Given the description of an element on the screen output the (x, y) to click on. 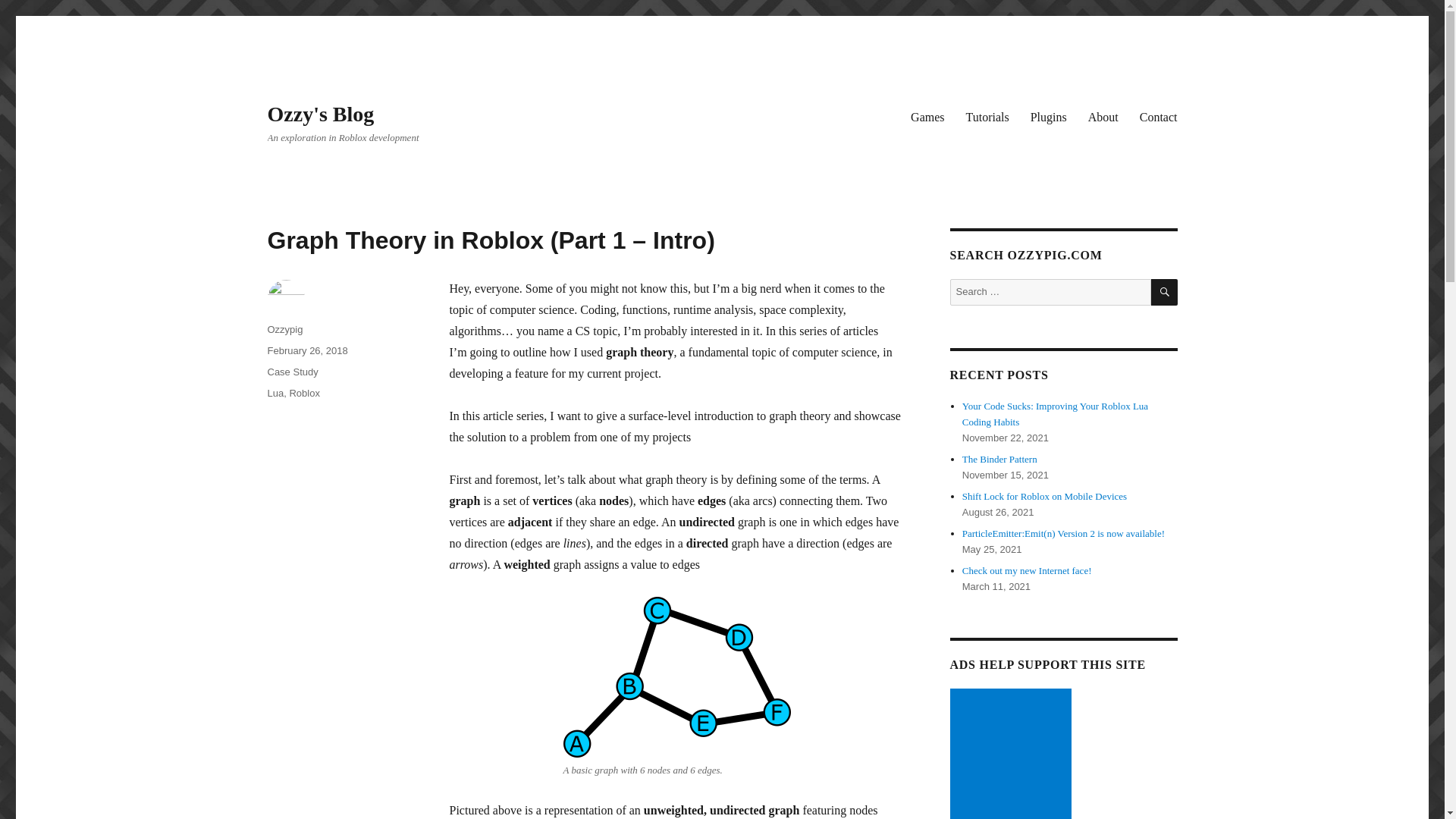
Who is Ozzypig? (1103, 116)
Ozzypig (284, 328)
Games I have Created (927, 116)
Lua (274, 392)
Roblox Studio Plugins (1048, 116)
Ozzy's Blog (320, 114)
Advertisement (1013, 754)
February 26, 2018 (306, 350)
Roblox (303, 392)
Tutorials (987, 116)
About (1103, 116)
Plugins (1048, 116)
Contact (1158, 116)
Case Study (291, 371)
Games (927, 116)
